Given the description of an element on the screen output the (x, y) to click on. 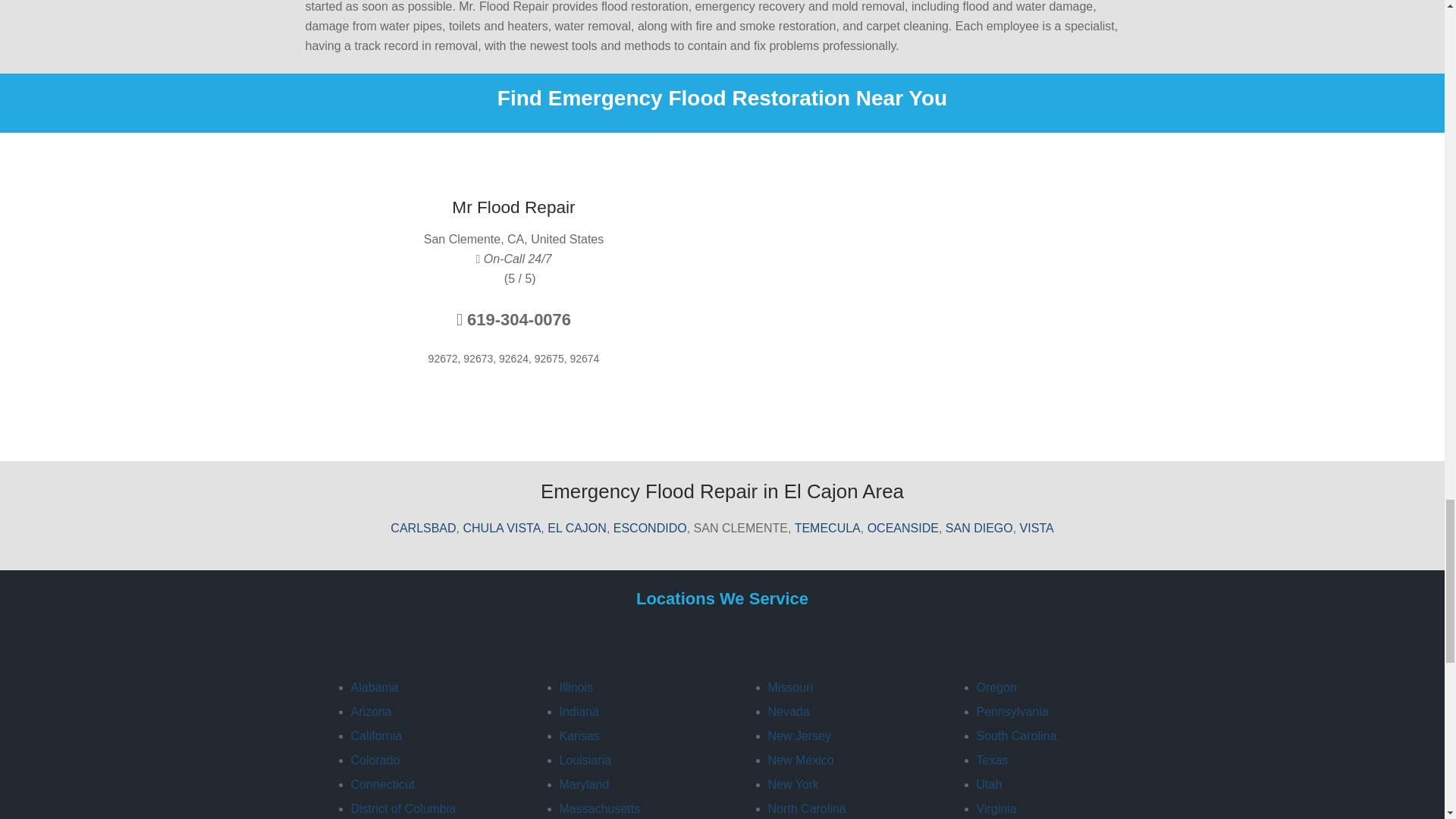
ESCONDIDO (649, 527)
CHULA VISTA (501, 527)
EL CAJON (577, 527)
CARLSBAD (422, 527)
